Given the description of an element on the screen output the (x, y) to click on. 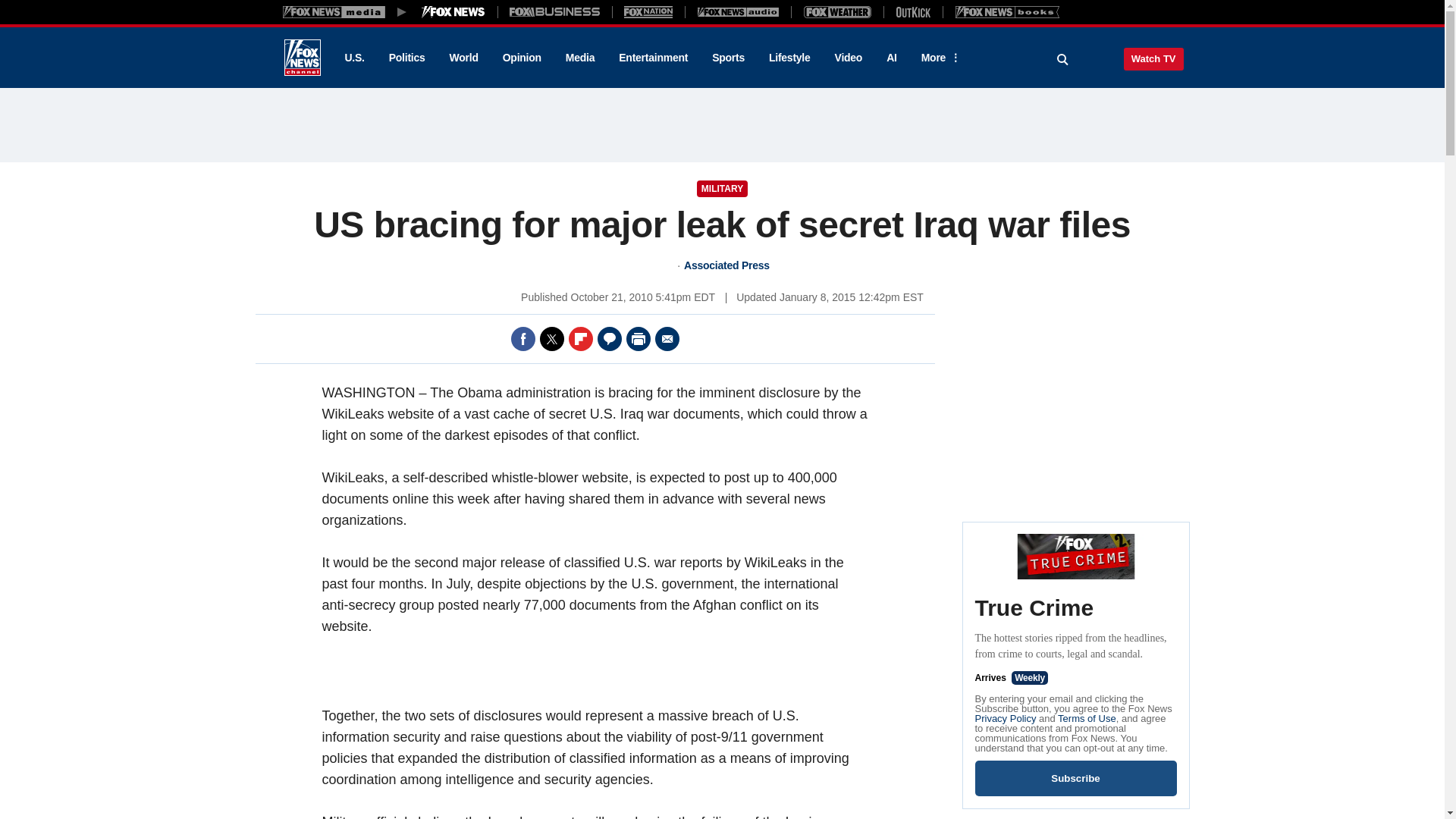
Media (580, 57)
Fox News (301, 57)
Sports (728, 57)
Lifestyle (789, 57)
Entertainment (653, 57)
Opinion (521, 57)
Outkick (912, 11)
Fox News Audio (737, 11)
Politics (407, 57)
AI (891, 57)
